Given the description of an element on the screen output the (x, y) to click on. 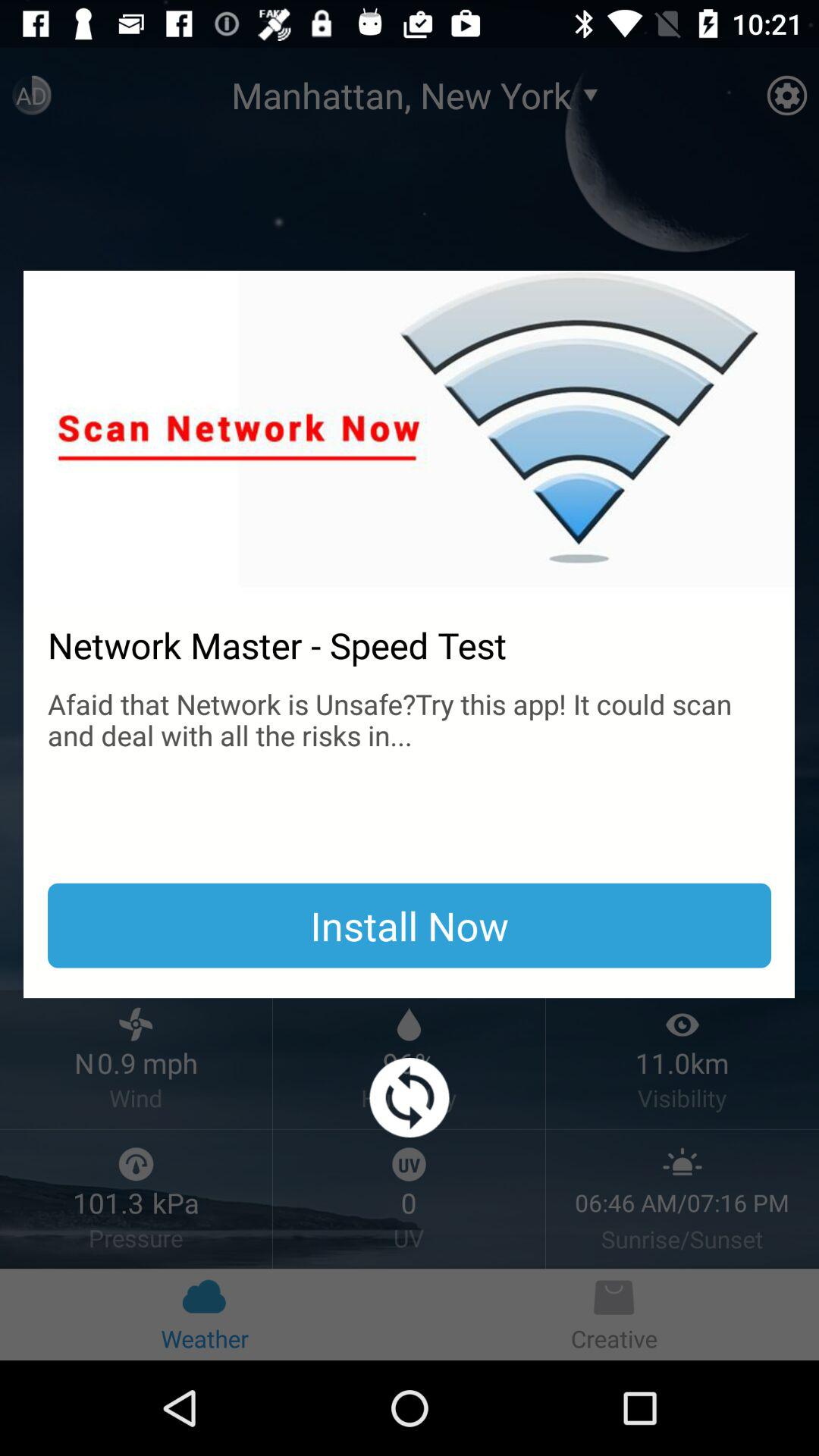
open install now item (409, 925)
